Given the description of an element on the screen output the (x, y) to click on. 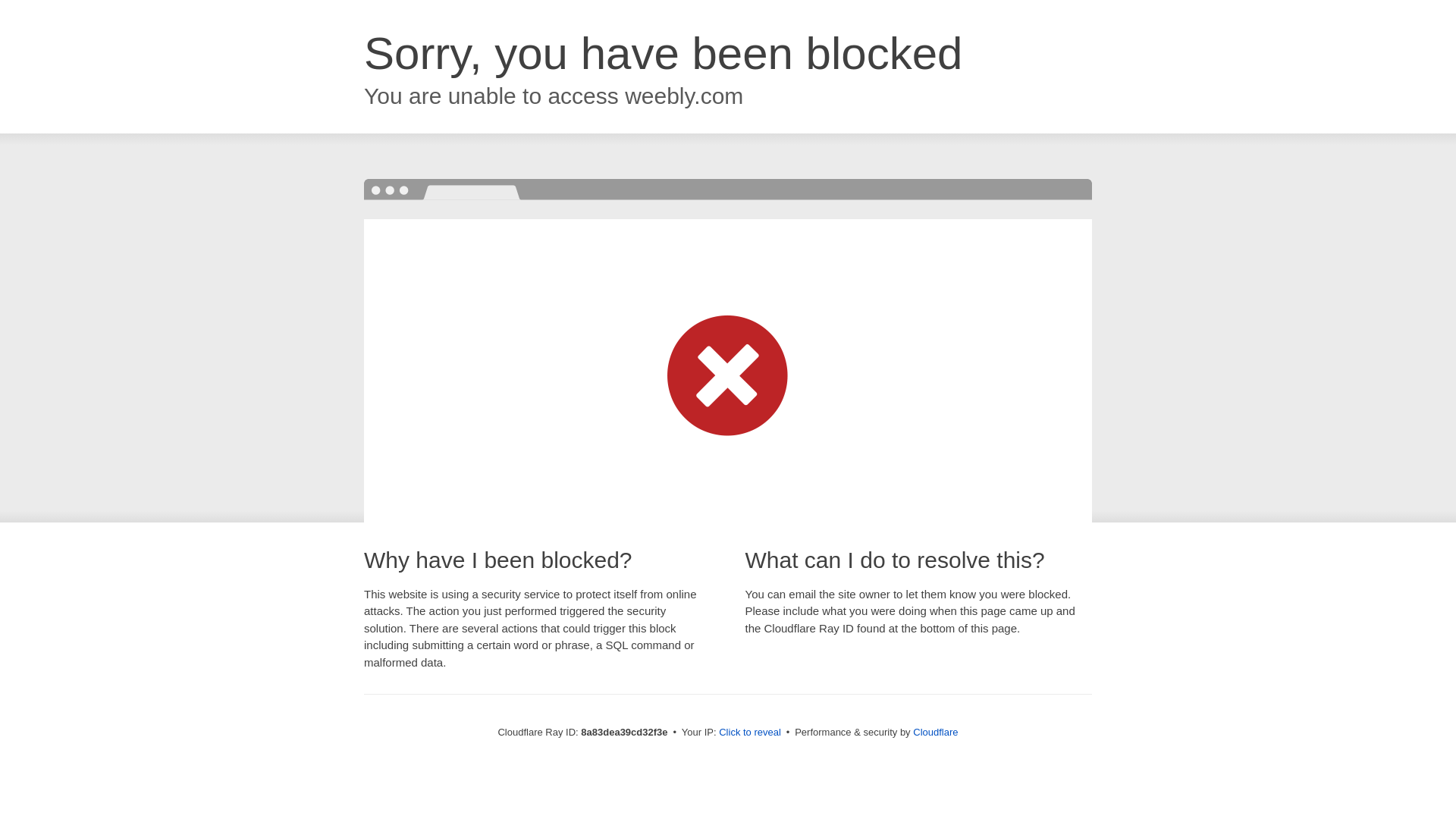
Click to reveal (749, 732)
Cloudflare (935, 731)
